Given the description of an element on the screen output the (x, y) to click on. 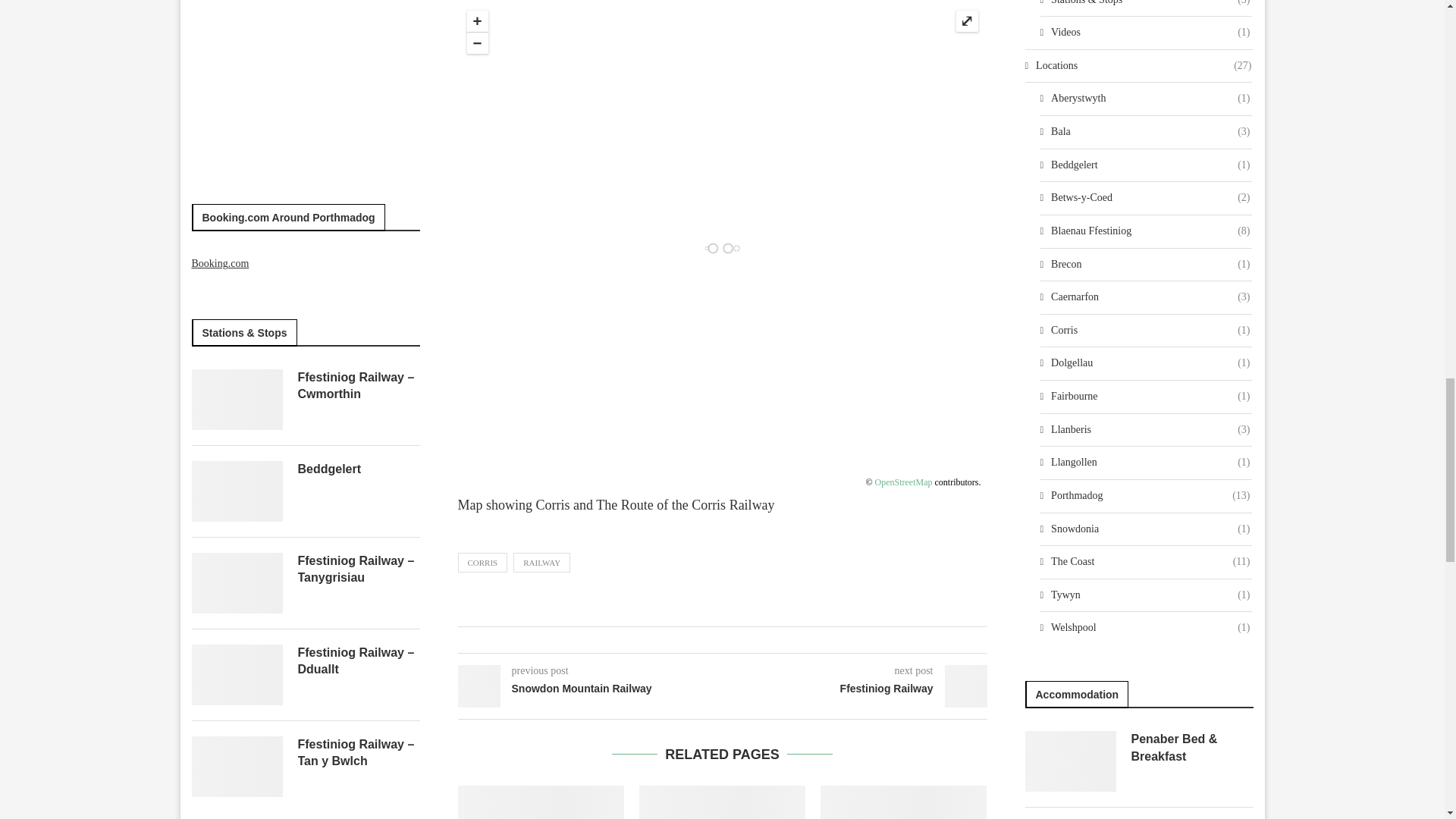
Vale of Rheidol Railway (722, 802)
Zoom out (477, 43)
Toggle full-screen (966, 20)
The Llanberis Lake Railway (541, 802)
Zoom in (477, 20)
OpenStreetMap (904, 481)
